Given the description of an element on the screen output the (x, y) to click on. 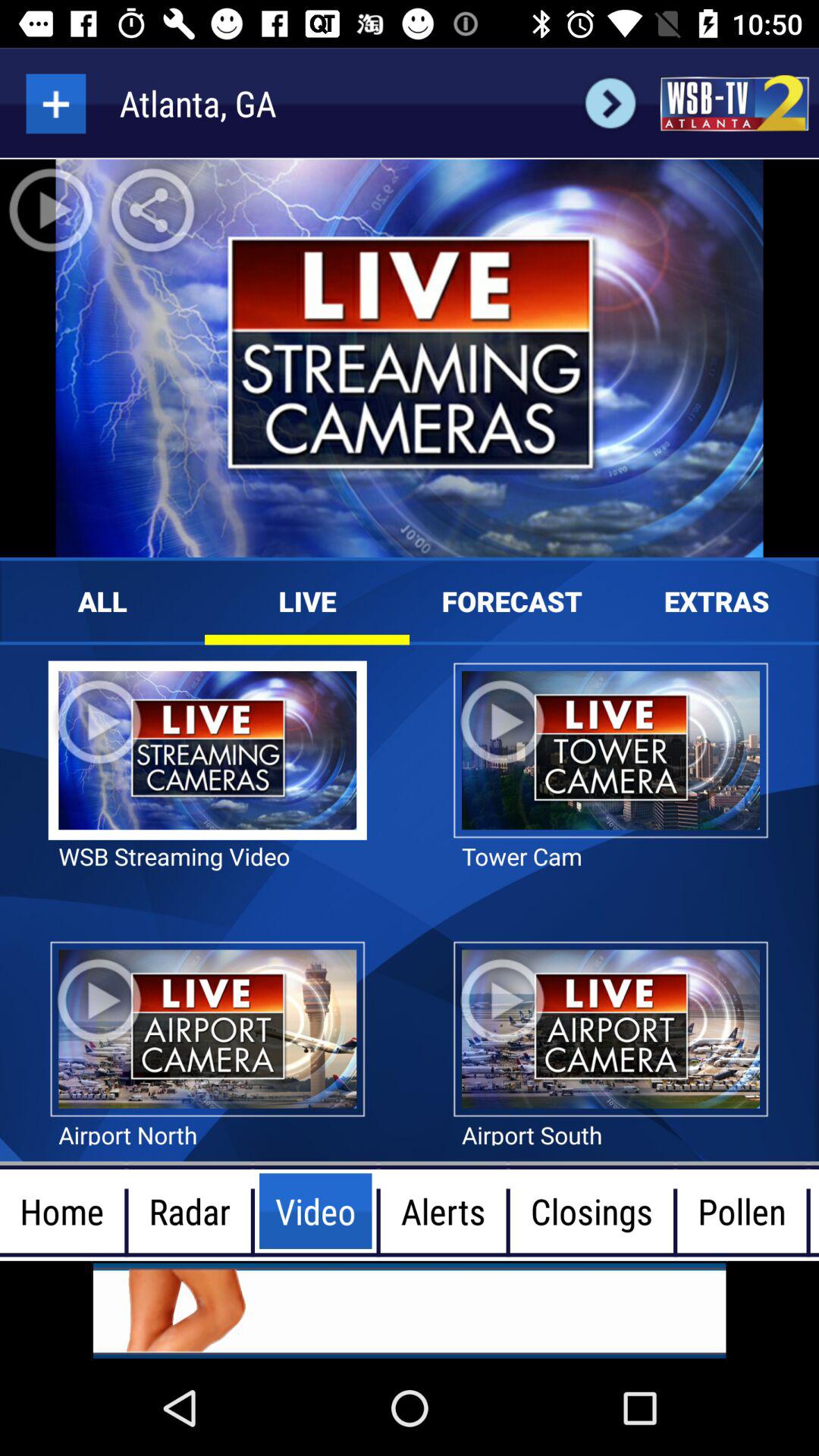
add location (55, 103)
